Given the description of an element on the screen output the (x, y) to click on. 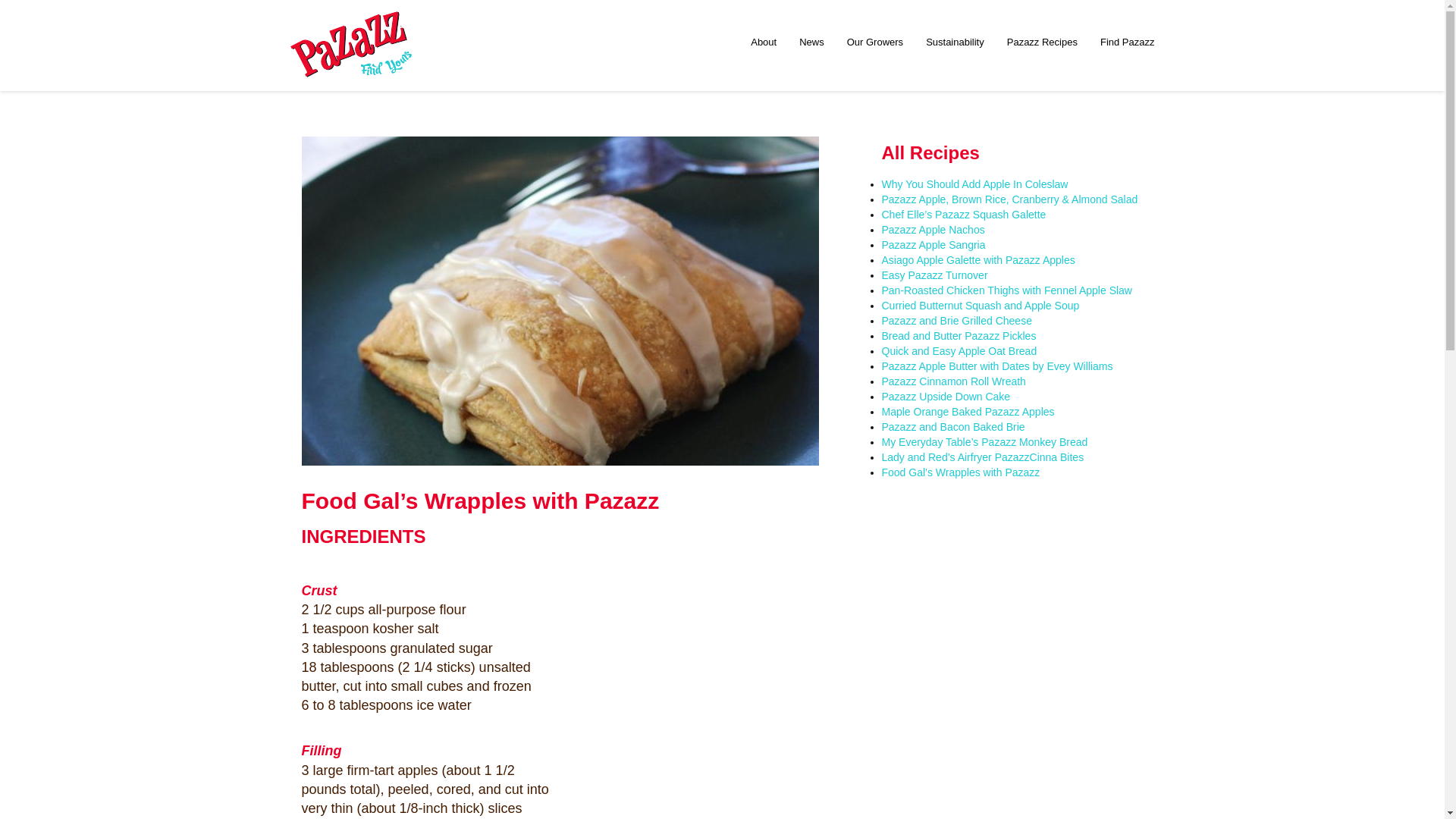
Asiago Apple Galette with Pazazz Apples (977, 259)
Pazazz Apple Sangria (932, 244)
Quick and Easy Apple Oat Bread (958, 350)
About (763, 42)
Sustainability (954, 42)
Pan-Roasted Chicken Thighs with Fennel Apple Slaw (1005, 290)
Find Pazazz (1127, 42)
About (763, 42)
News (811, 42)
Pazazz Cinnamon Roll Wreath (952, 381)
News (811, 42)
Our Growers (874, 42)
Pazazz Apple Butter with Dates by Evey Williams (996, 366)
Pazazz Apple Nachos (932, 229)
Our Growers (874, 42)
